Given the description of an element on the screen output the (x, y) to click on. 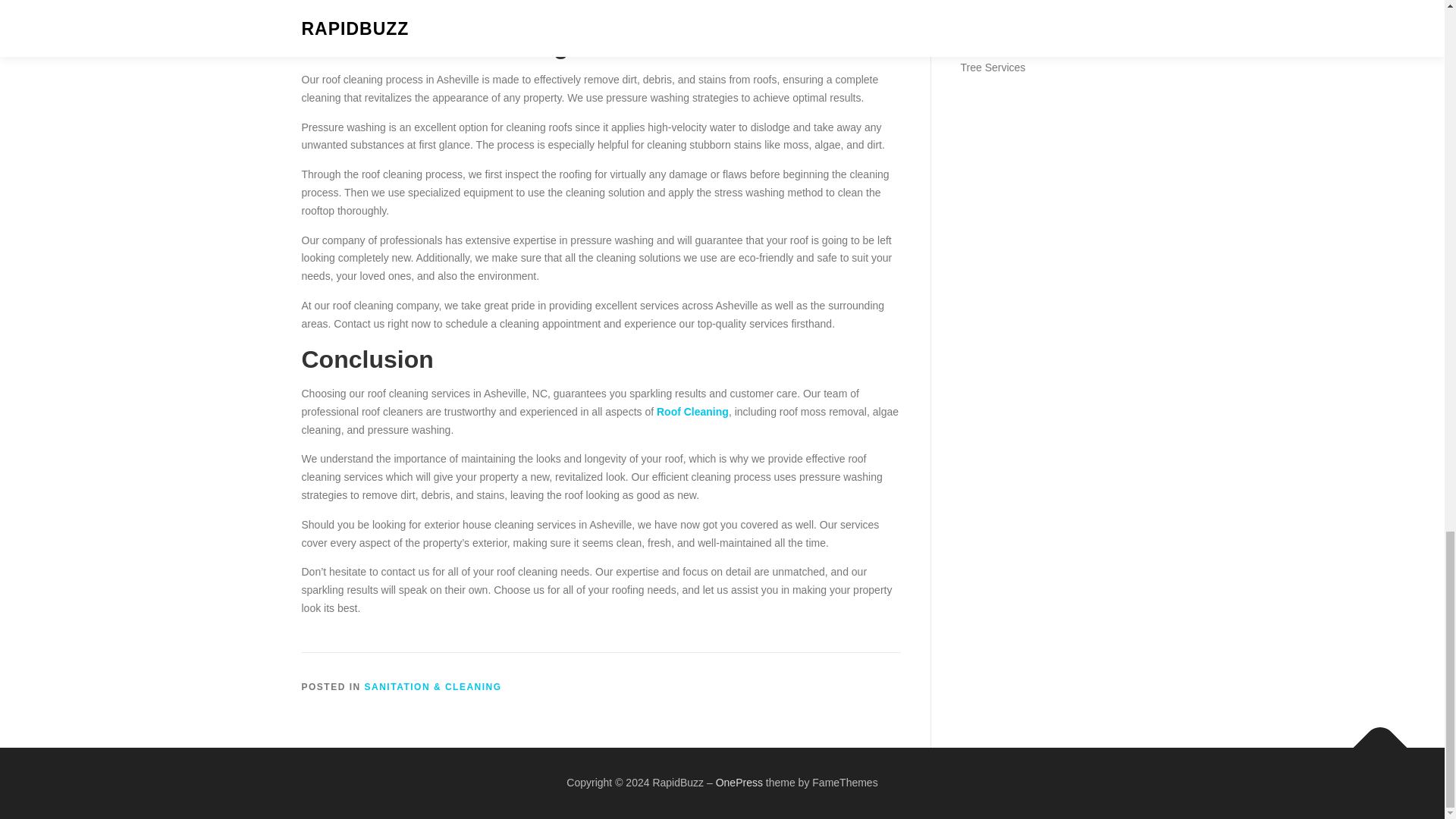
Roof Cleaning (692, 411)
Back To Top (1372, 740)
